Given the description of an element on the screen output the (x, y) to click on. 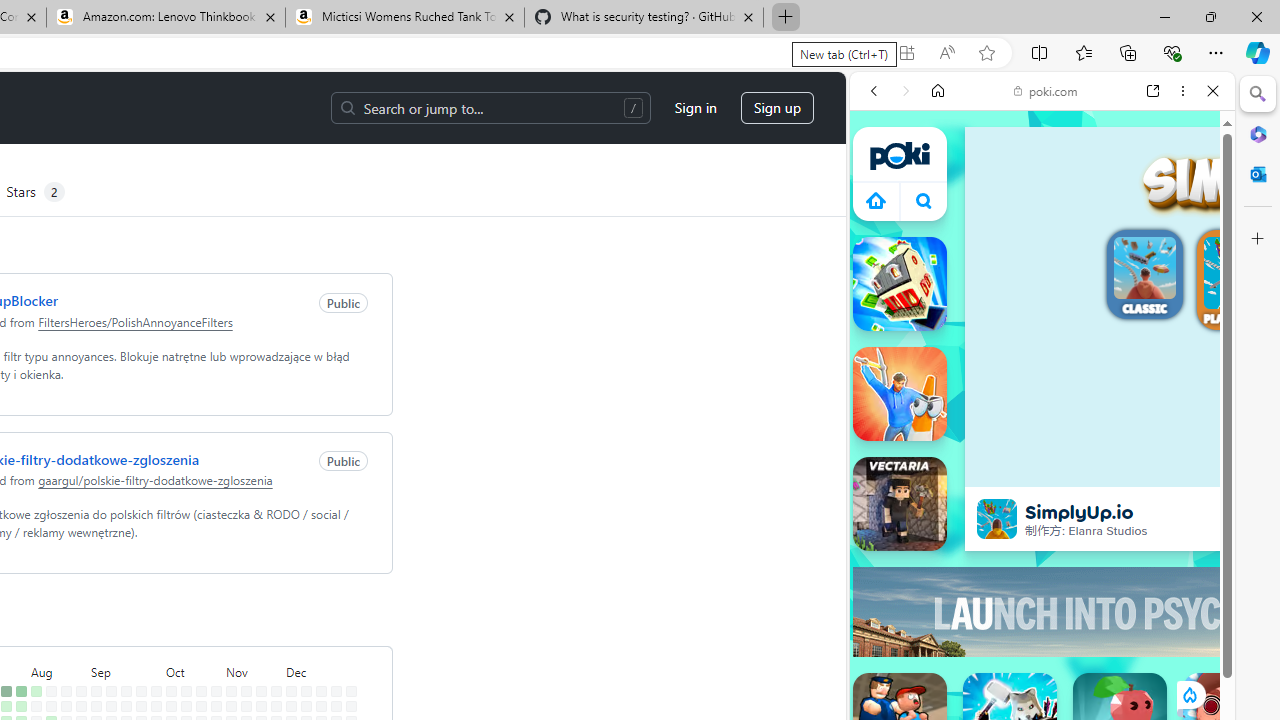
Search Filter, VIDEOS (1006, 228)
No contributions on August 19th. (66, 706)
No contributions on December 30th. (351, 706)
No contributions on September 1st. (96, 691)
Class: rCs5cyEiqiTpYvt_VBCR (1189, 695)
Two Player Games (1042, 567)
No contributions on October 27th. (216, 691)
Sports Games (1042, 666)
CLASSIC (1144, 277)
No contributions on September 8th. (111, 691)
App available. Install GitHub (906, 53)
No contributions on December 2nd. (290, 706)
No contributions on September 9th. (111, 706)
